Given the description of an element on the screen output the (x, y) to click on. 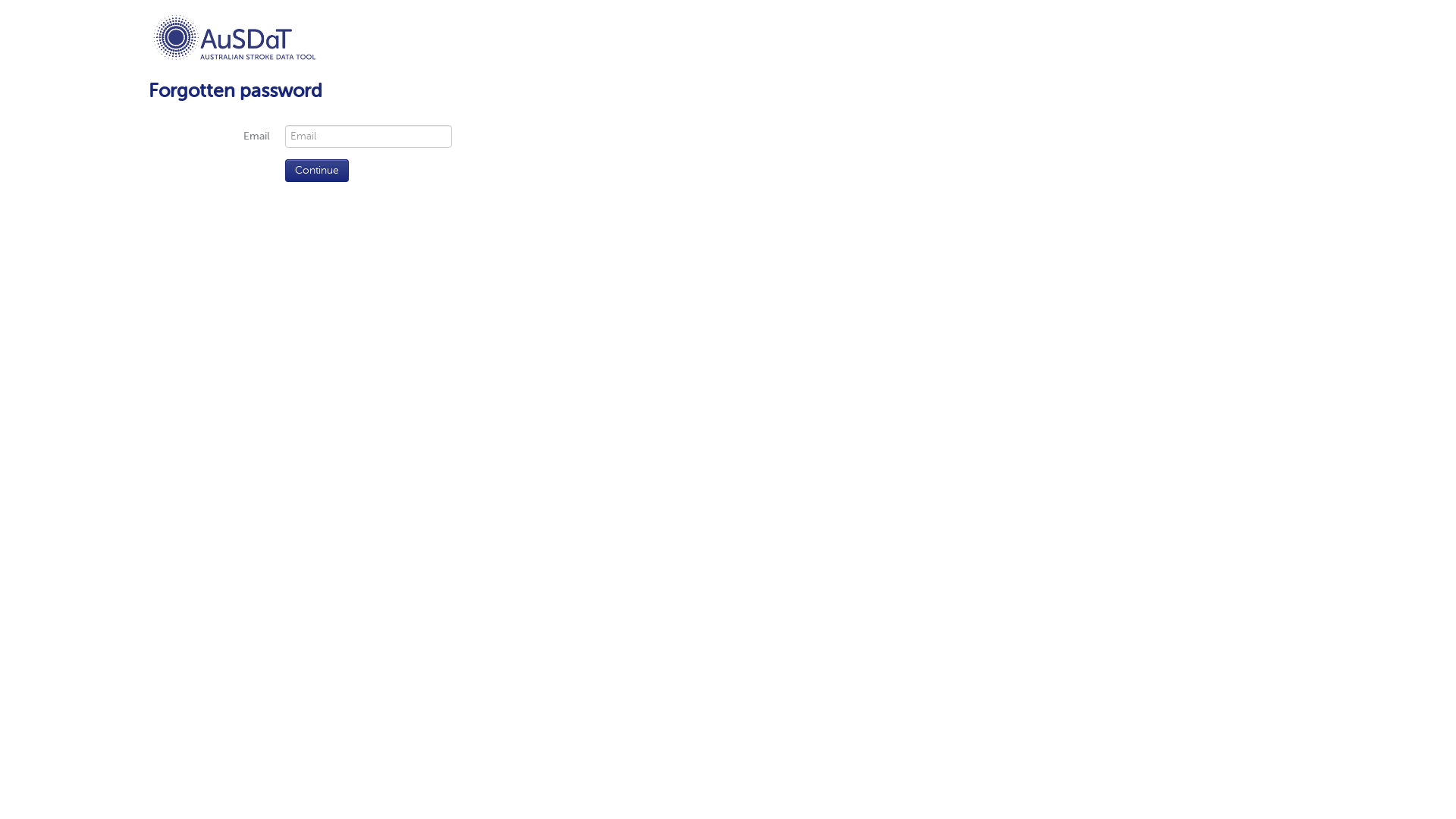
Continue Element type: text (316, 170)
